Given the description of an element on the screen output the (x, y) to click on. 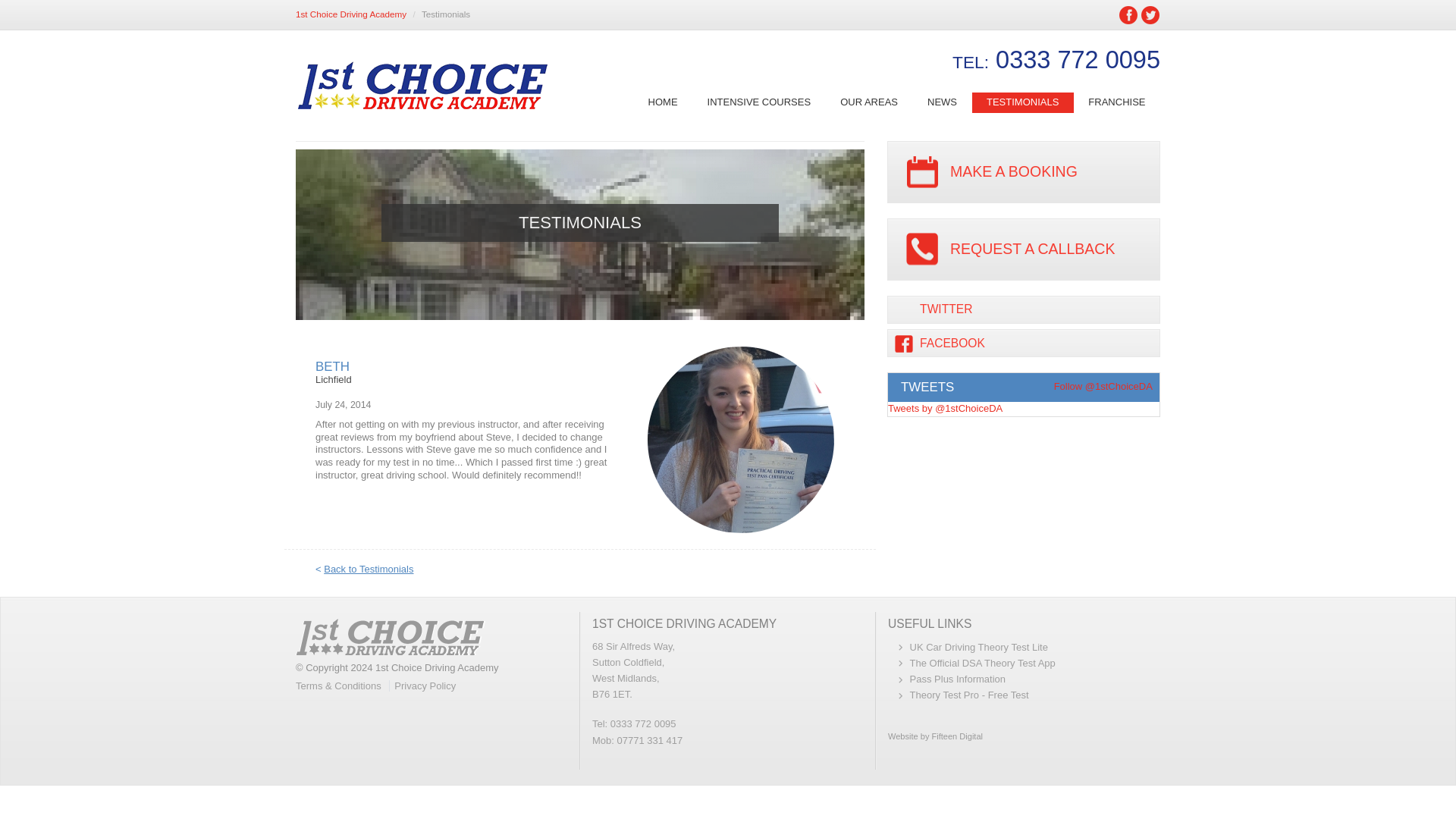
Facebook (1128, 14)
Privacy Policy (424, 685)
UK Car Driving Theory Test Lite (979, 646)
FRANCHISE (1117, 102)
OUR AREAS (868, 102)
FACEBOOK (1023, 343)
The Official DSA Theory Test App (982, 663)
Make a Booking (1023, 171)
1st Choice Driving Academy (350, 13)
Facebook (1128, 14)
Theory Test Pro - Free Test (969, 695)
Facebook (1023, 343)
HOME (663, 102)
1st Choice Driving Academy (350, 13)
Website by Fifteen Digital (1024, 736)
